Given the description of an element on the screen output the (x, y) to click on. 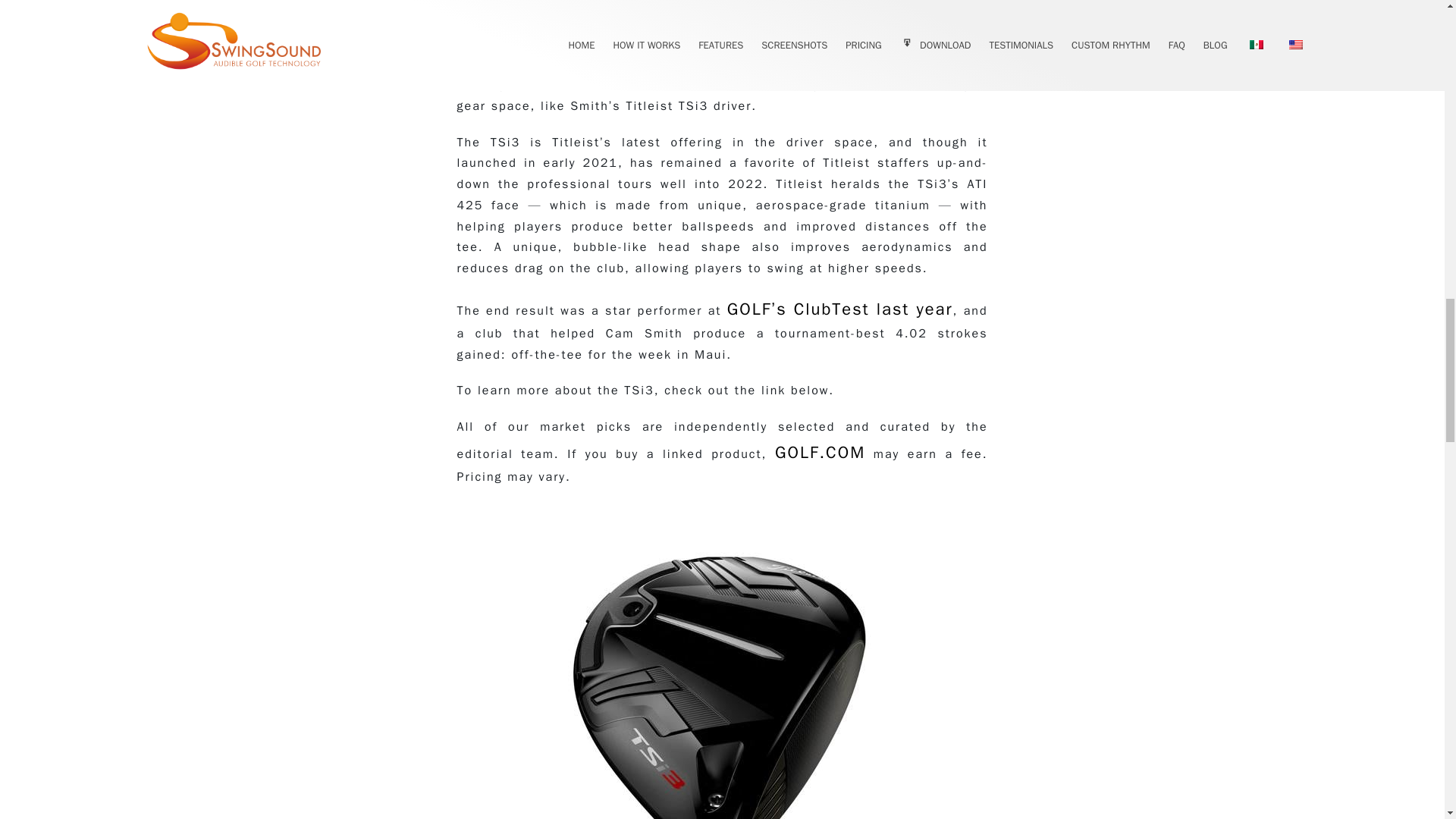
GOLF.COM (819, 452)
posted a course-record 61 (603, 24)
